Given the description of an element on the screen output the (x, y) to click on. 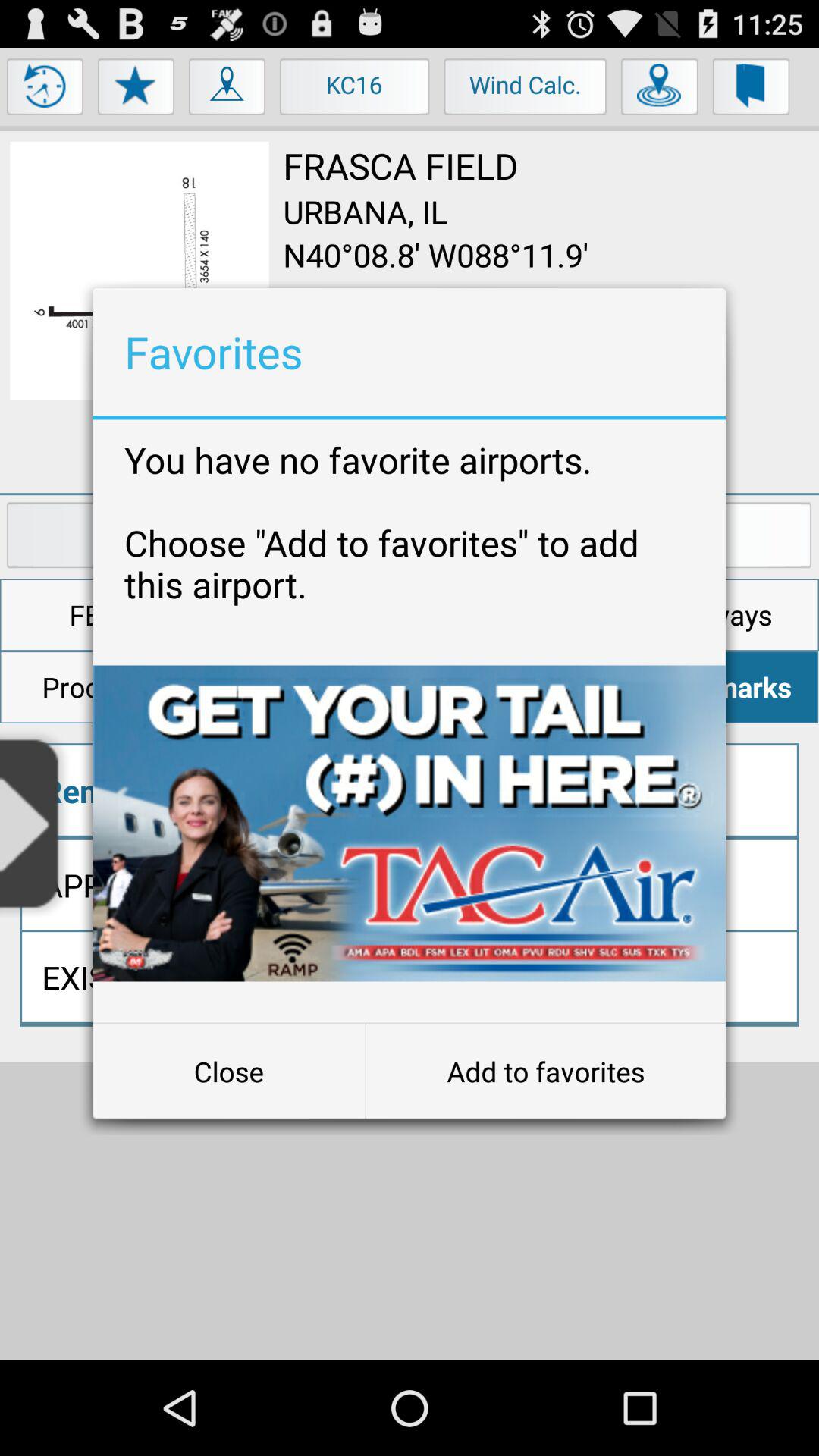
choose close item (228, 1071)
